Given the description of an element on the screen output the (x, y) to click on. 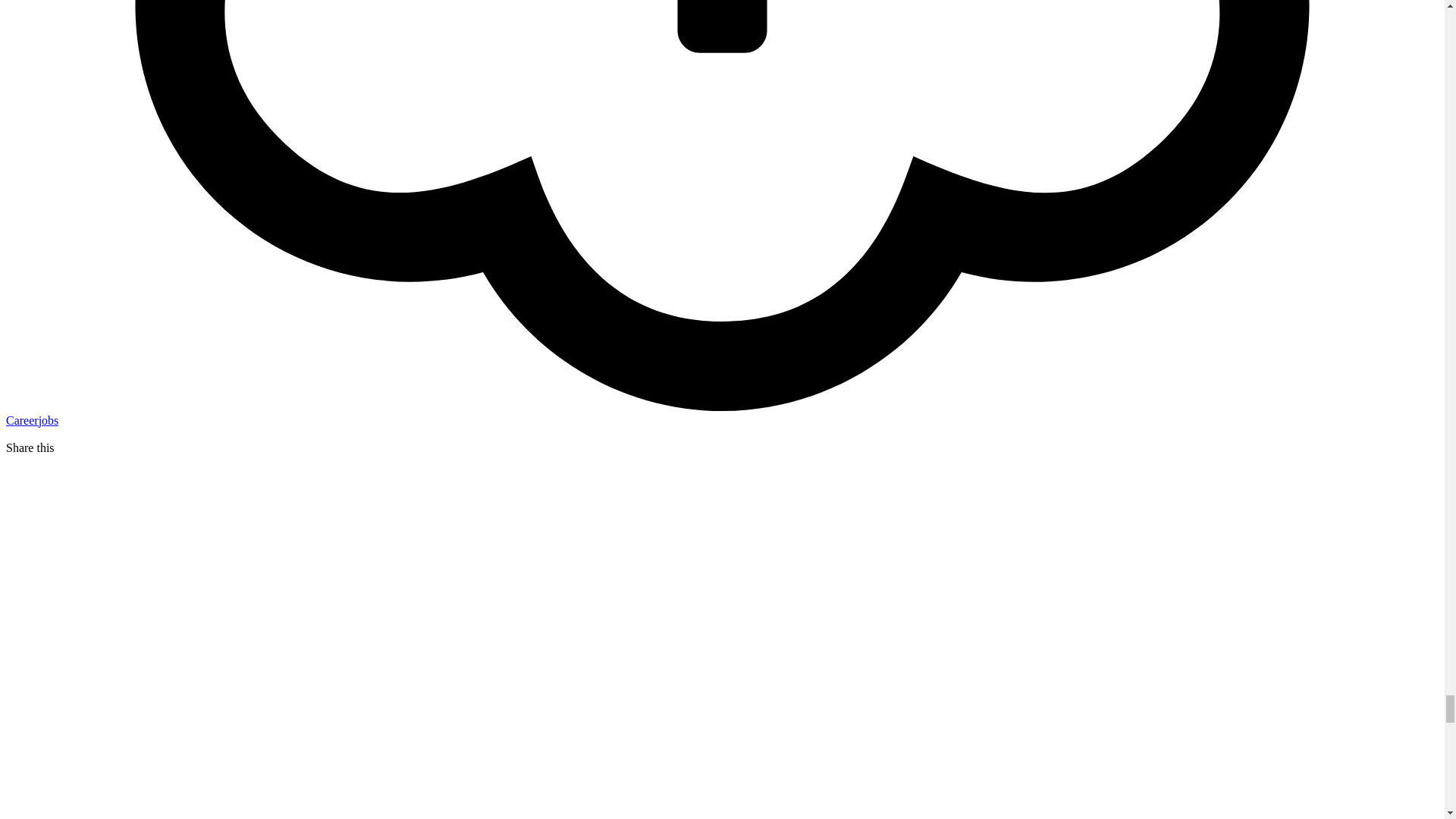
Career (22, 420)
jobs (49, 420)
